Given the description of an element on the screen output the (x, y) to click on. 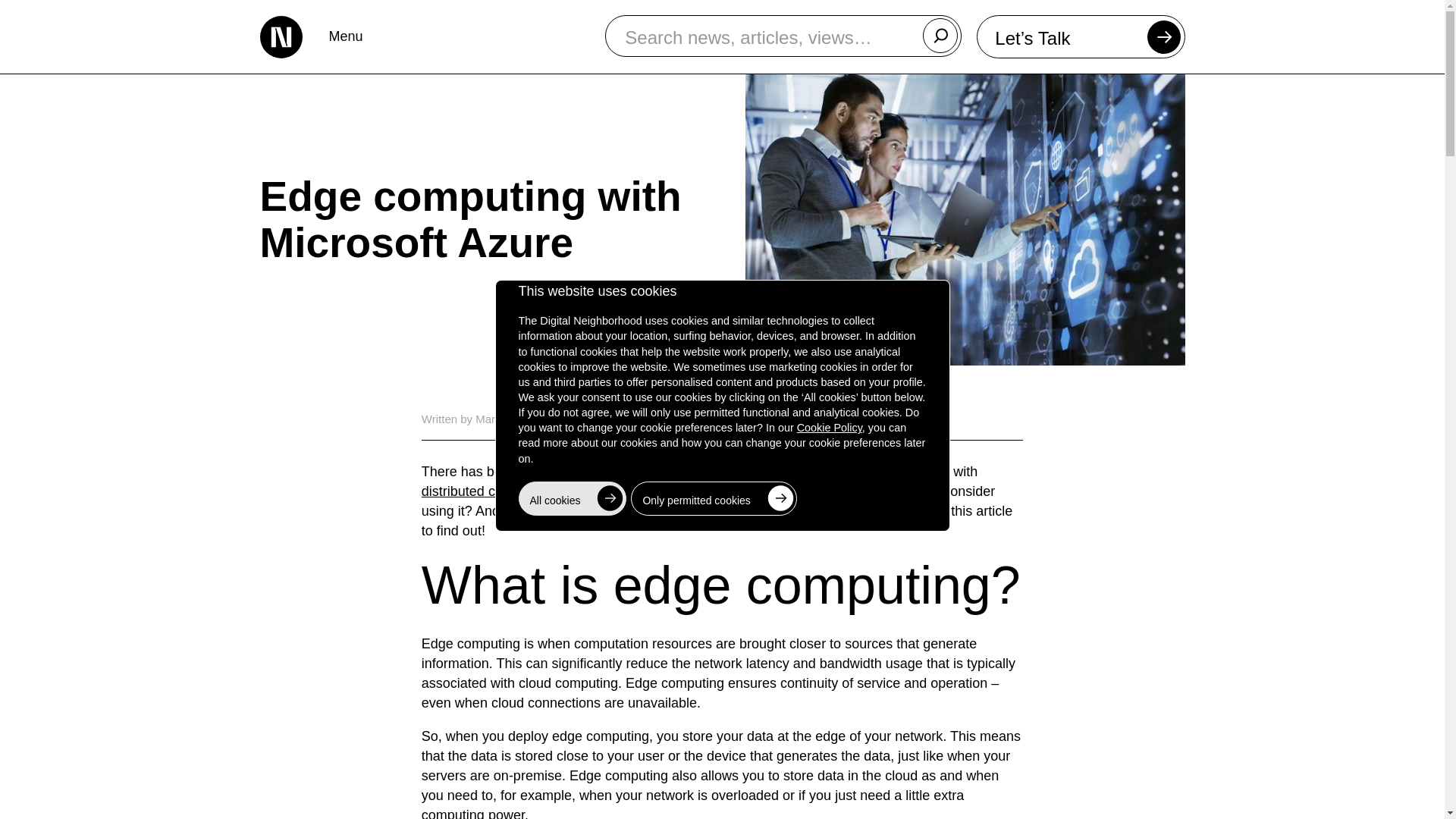
Let's Talk (1080, 36)
The Digital Neighborhood (280, 36)
distributed cloud (471, 491)
Cookie Policy (828, 427)
Search for: (782, 35)
